Given the description of an element on the screen output the (x, y) to click on. 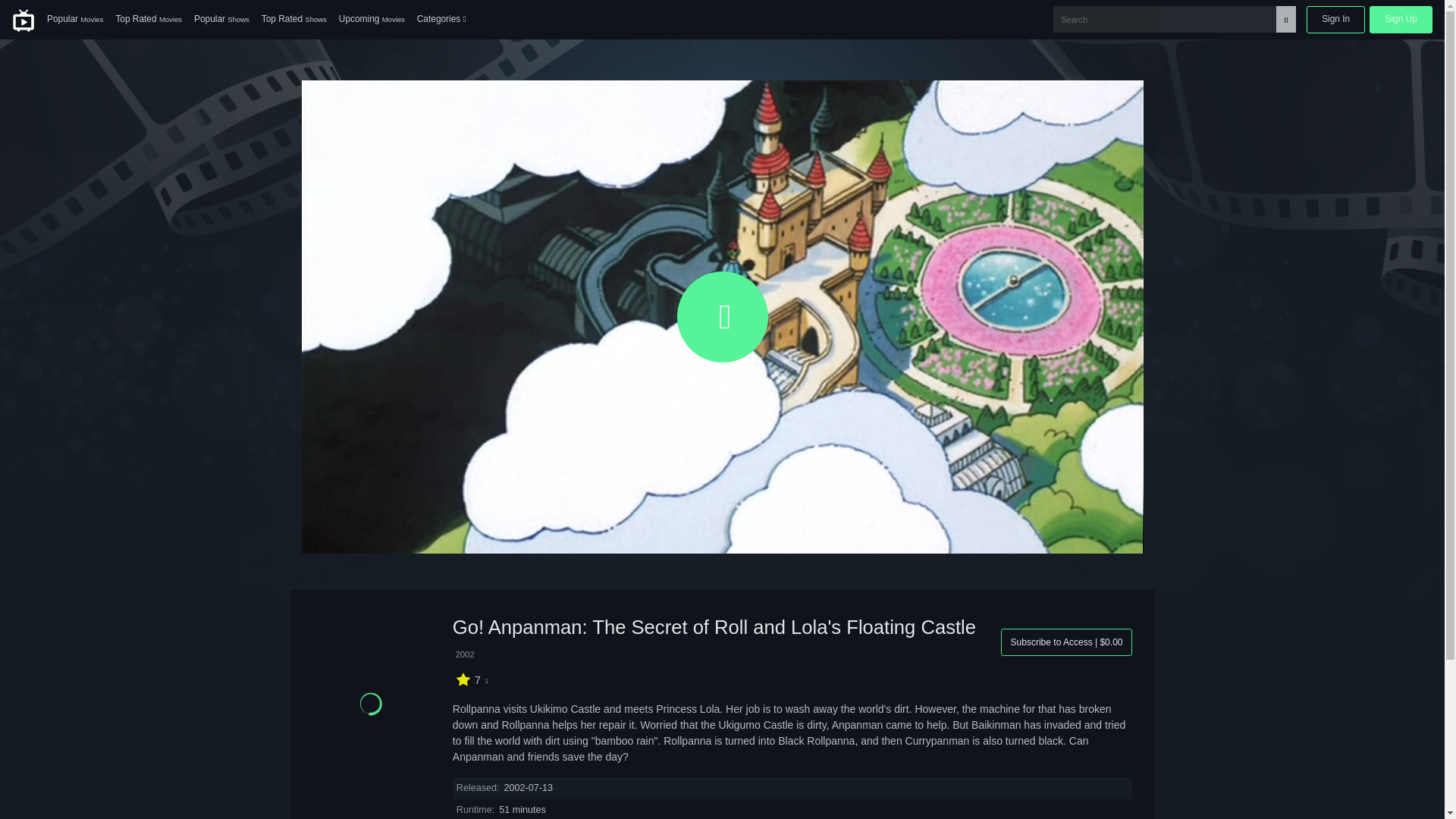
Upcoming Movies (371, 19)
Categories (440, 19)
Popular Shows (221, 19)
Top Rated Shows (294, 19)
Top Rated Movies (148, 19)
Popular Movies (74, 19)
